Given the description of an element on the screen output the (x, y) to click on. 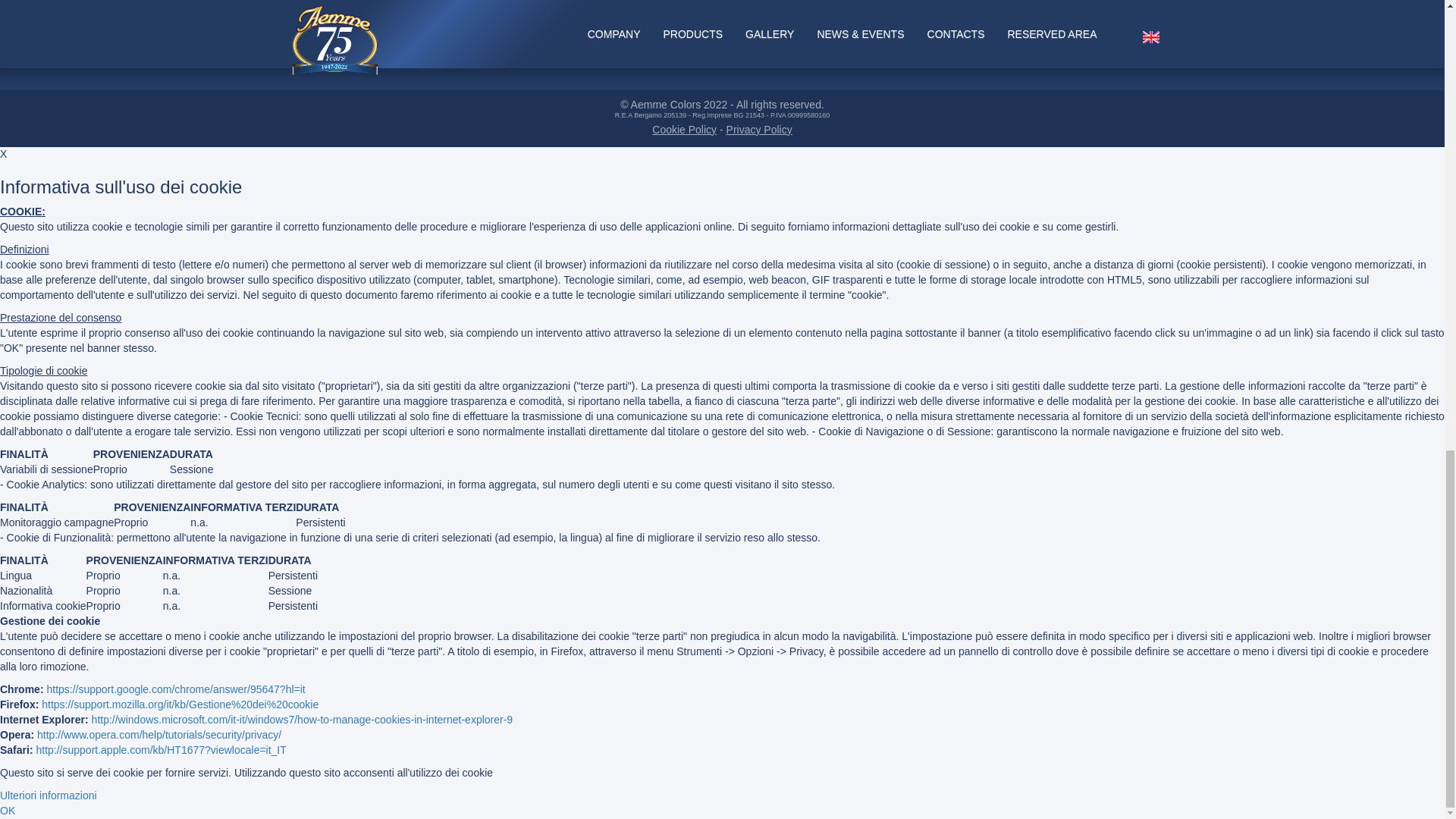
OK (7, 810)
Ulteriori informazioni (48, 795)
Privacy Policy (759, 129)
Cookie Policy (684, 129)
